Given the description of an element on the screen output the (x, y) to click on. 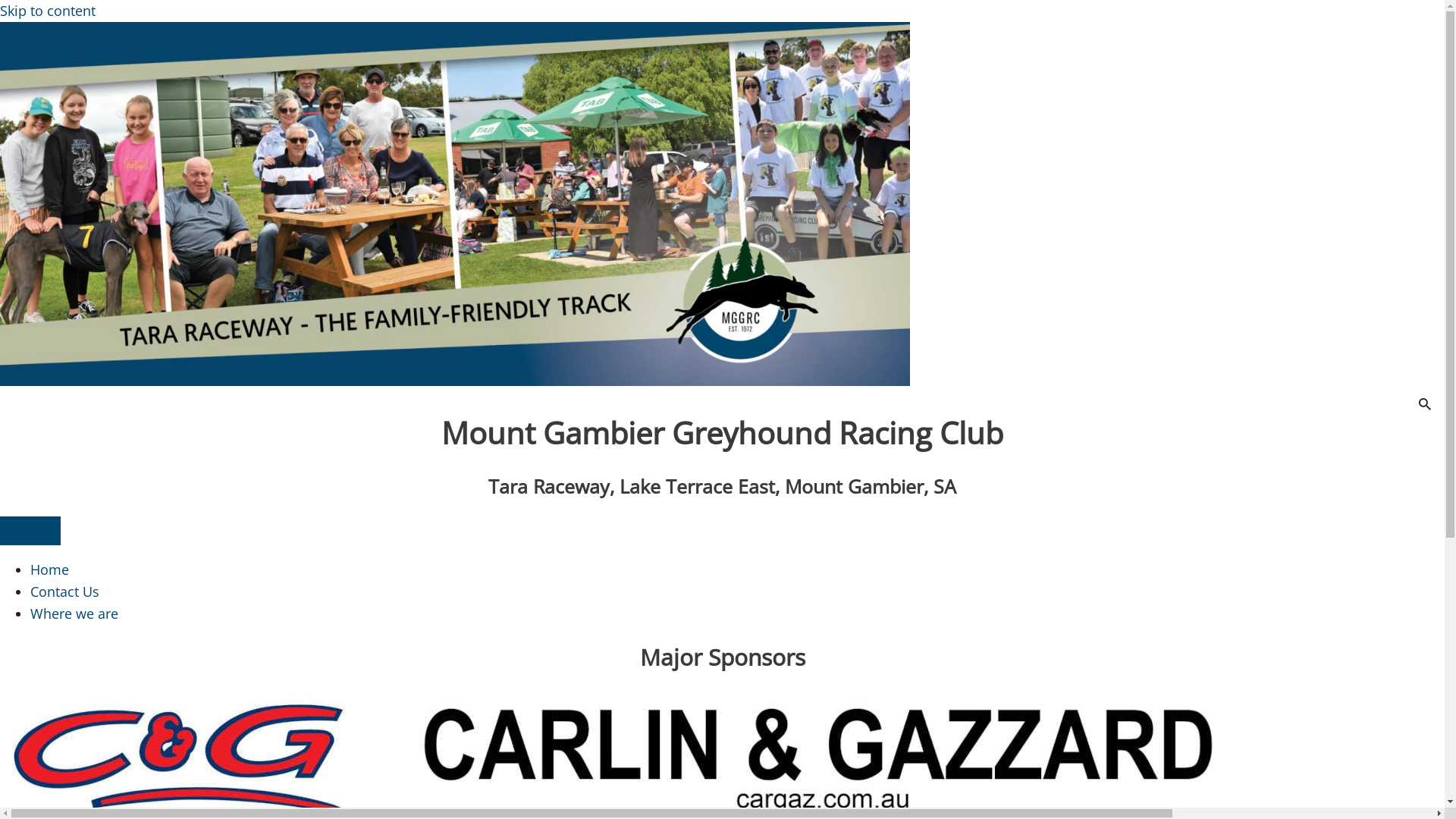
Contact Us Element type: text (64, 591)
Skip to content Element type: text (47, 10)
Where we are Element type: text (74, 613)
Home Element type: text (49, 569)
Mount Gambier Greyhound Racing Club Tara Raceway Element type: hover (455, 203)
